Given the description of an element on the screen output the (x, y) to click on. 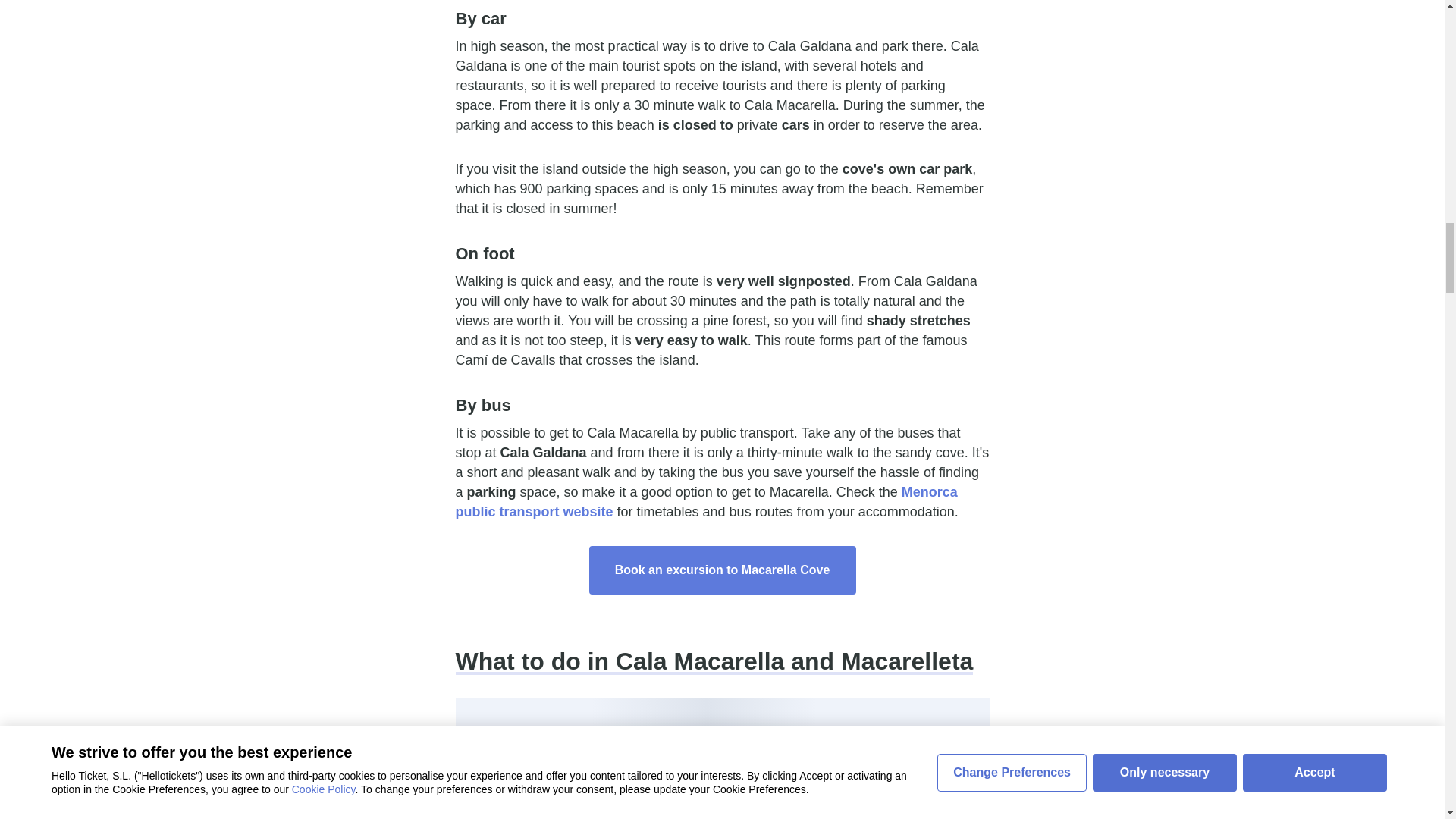
Menorca public transport website (705, 501)
Book an excursion to Macarella Cove (722, 570)
